Given the description of an element on the screen output the (x, y) to click on. 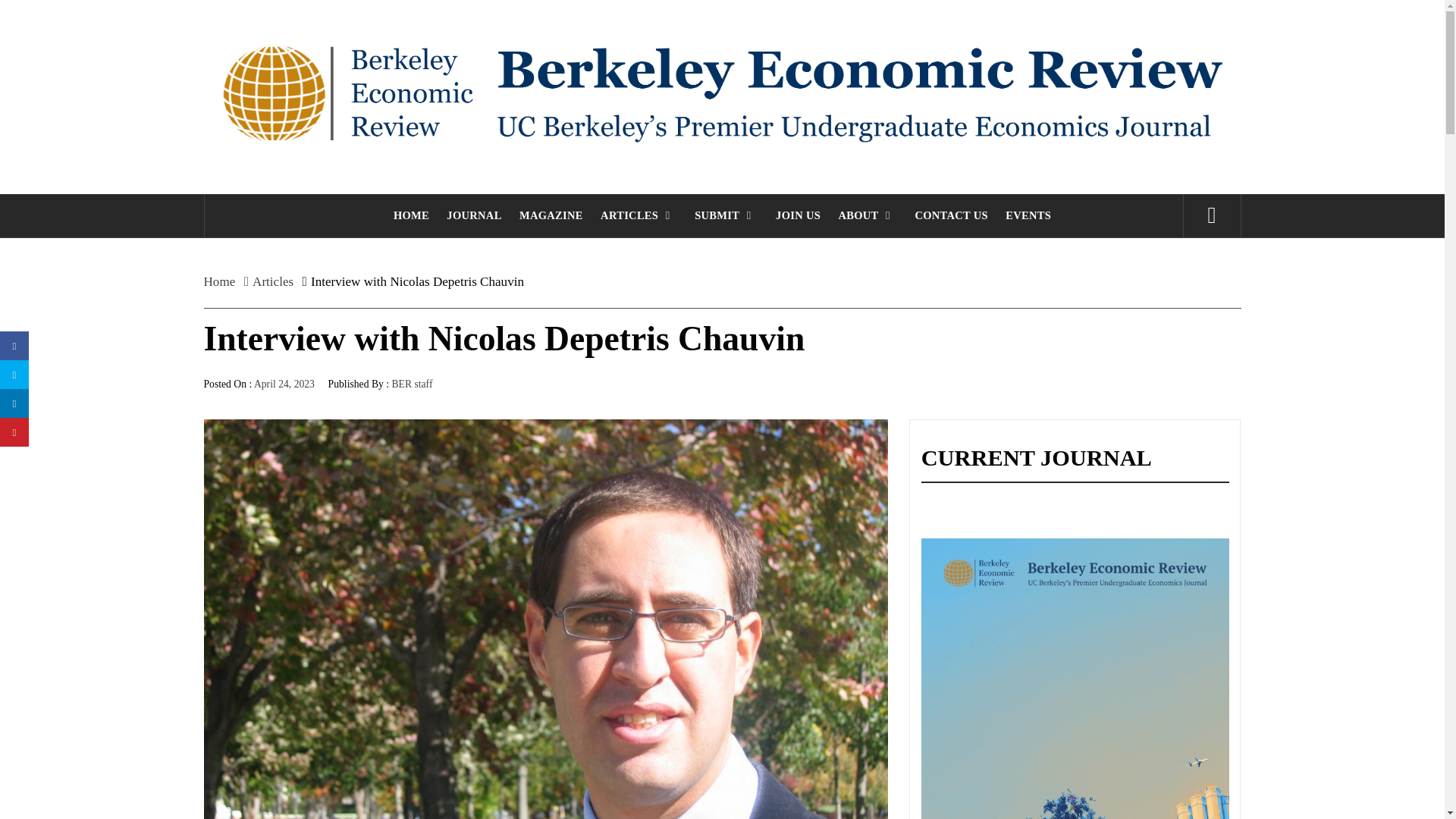
BER staff (433, 404)
Home (235, 296)
JOIN US (839, 226)
Articles (287, 296)
Search (836, 37)
SUBMIT (764, 226)
Berkeley Economic Review (759, 50)
CONTACT US (1001, 226)
ABOUT (913, 226)
HOME (433, 226)
ARTICLES (672, 226)
JOURNAL (499, 226)
April 24, 2023 (299, 404)
MAGAZINE (579, 226)
